Given the description of an element on the screen output the (x, y) to click on. 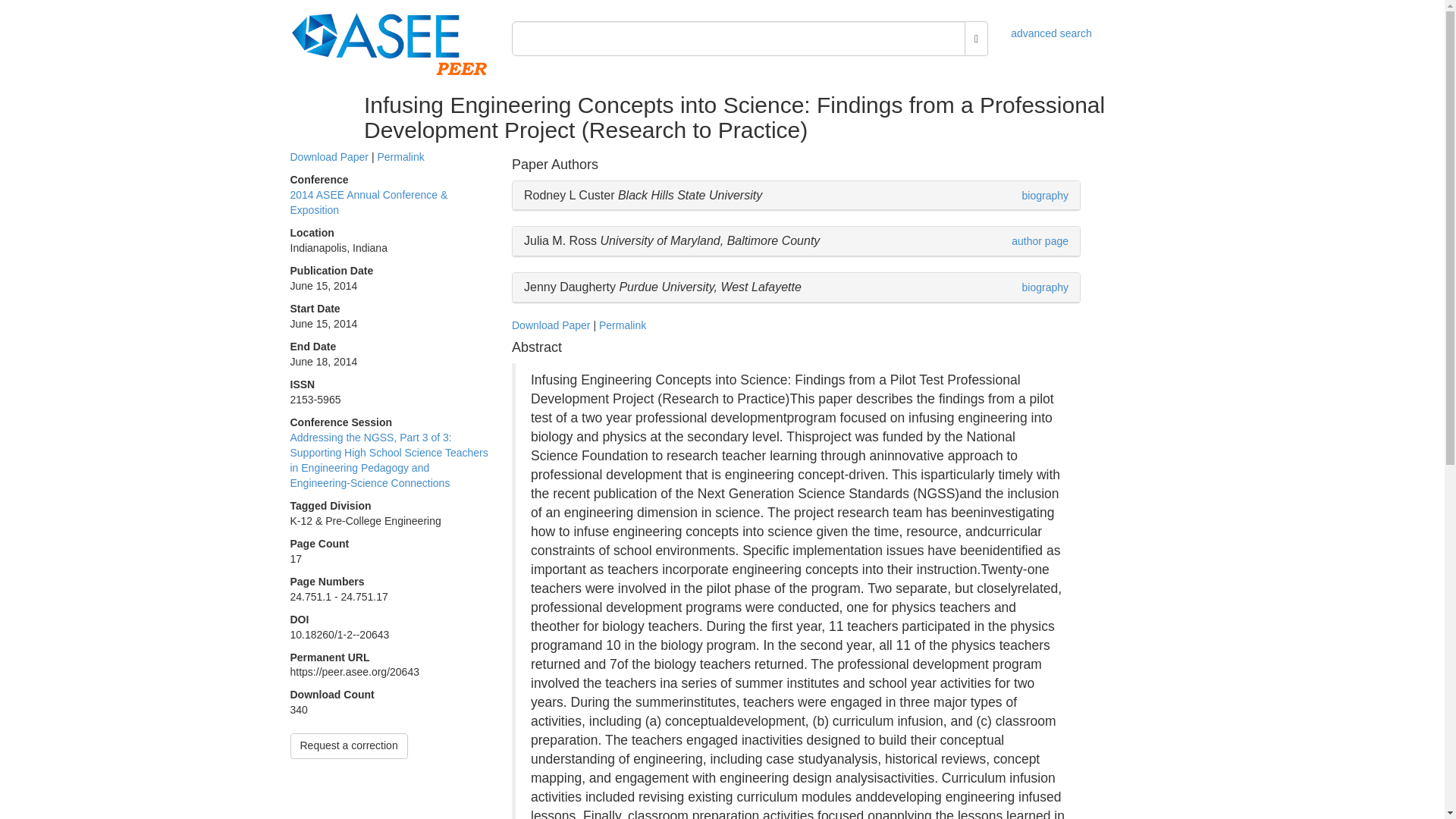
Search (975, 38)
Request a correction (348, 746)
Permalink (622, 324)
biography (1045, 195)
Permalink (400, 156)
biography (1045, 287)
Download Paper (328, 156)
author page (1039, 241)
Download Paper (551, 324)
advanced search (1051, 33)
